Given the description of an element on the screen output the (x, y) to click on. 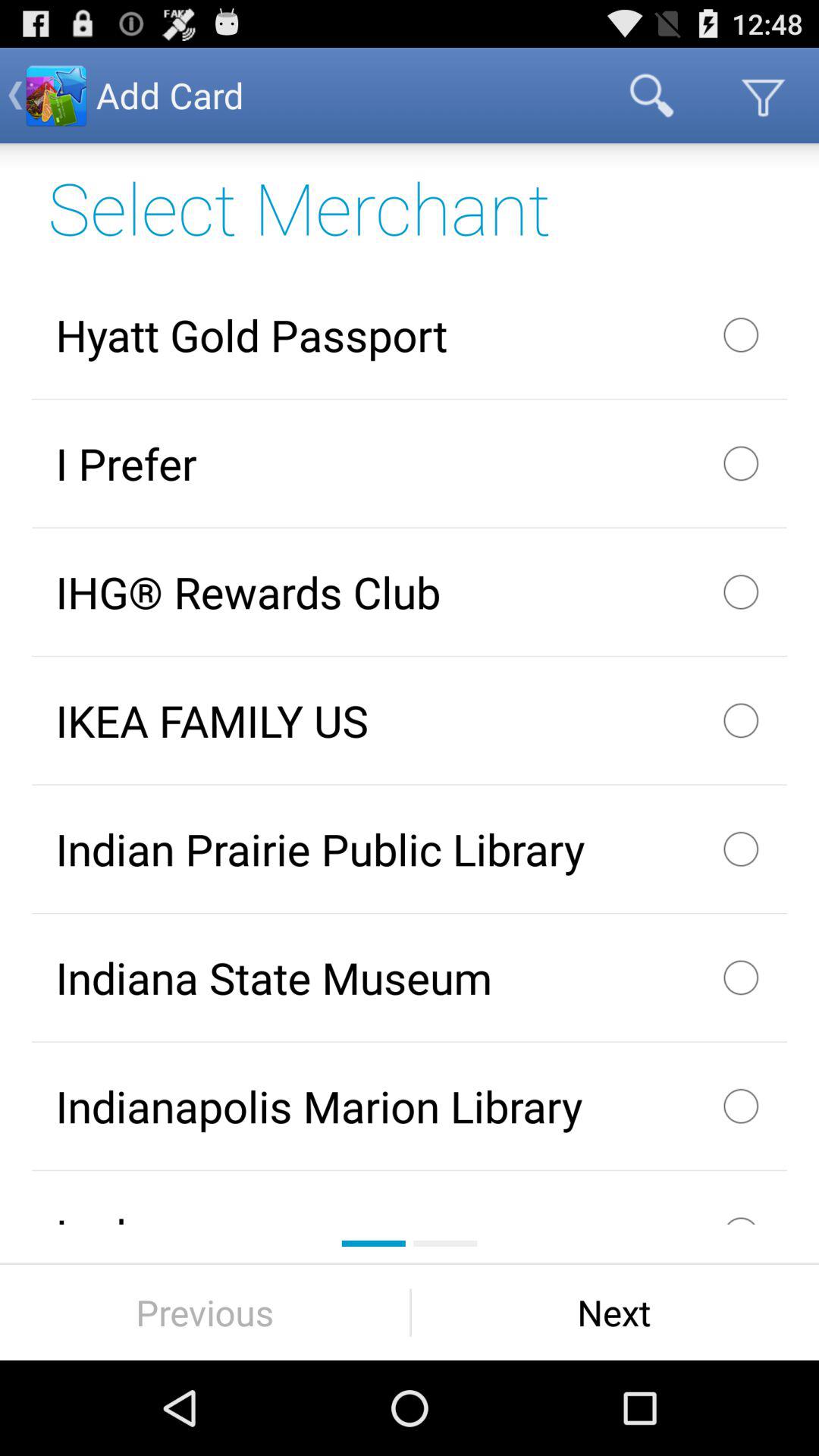
select the item above the indianapolis marion library (409, 977)
